Given the description of an element on the screen output the (x, y) to click on. 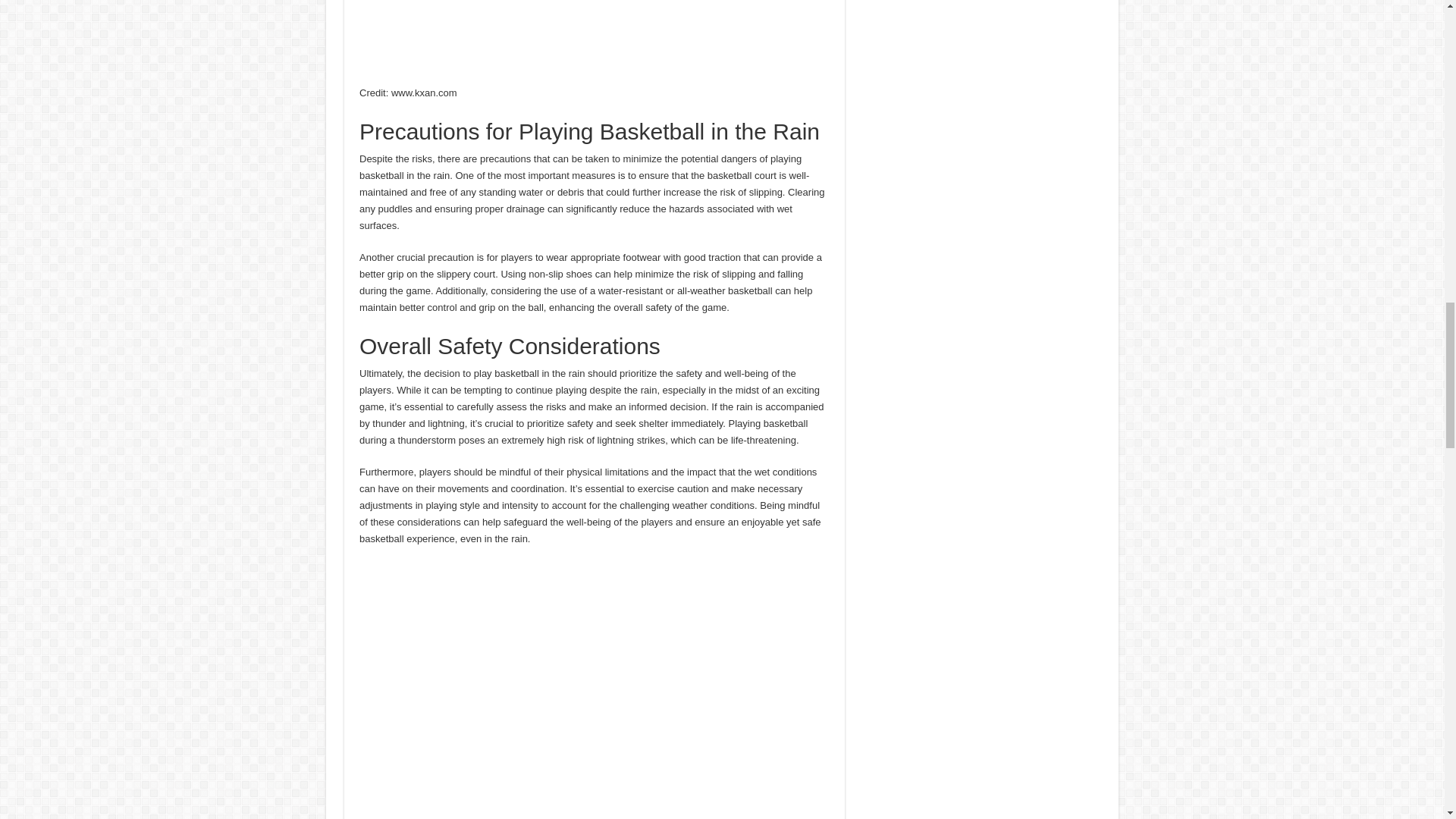
What It's Like Playing Basketball In The Dark... (594, 690)
